Given the description of an element on the screen output the (x, y) to click on. 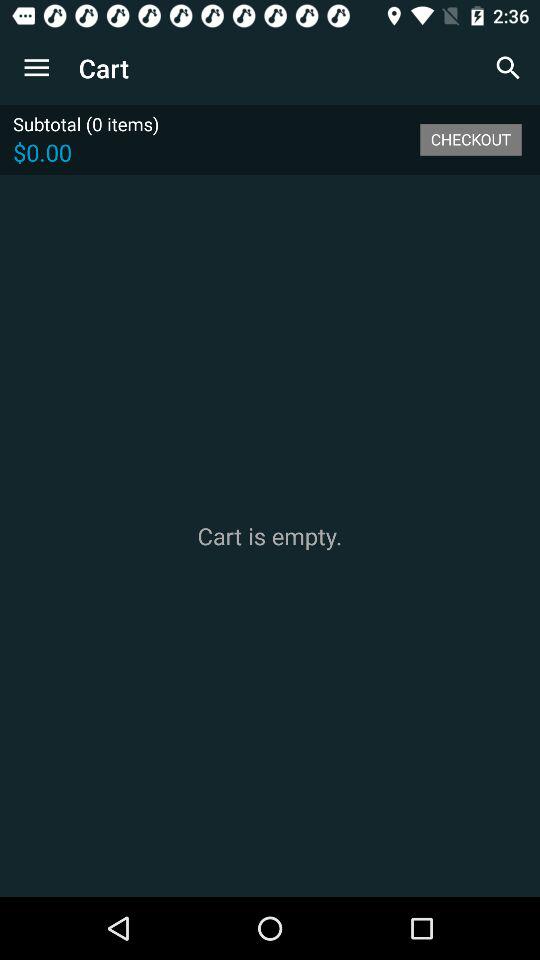
launch icon next to the cart app (36, 68)
